Given the description of an element on the screen output the (x, y) to click on. 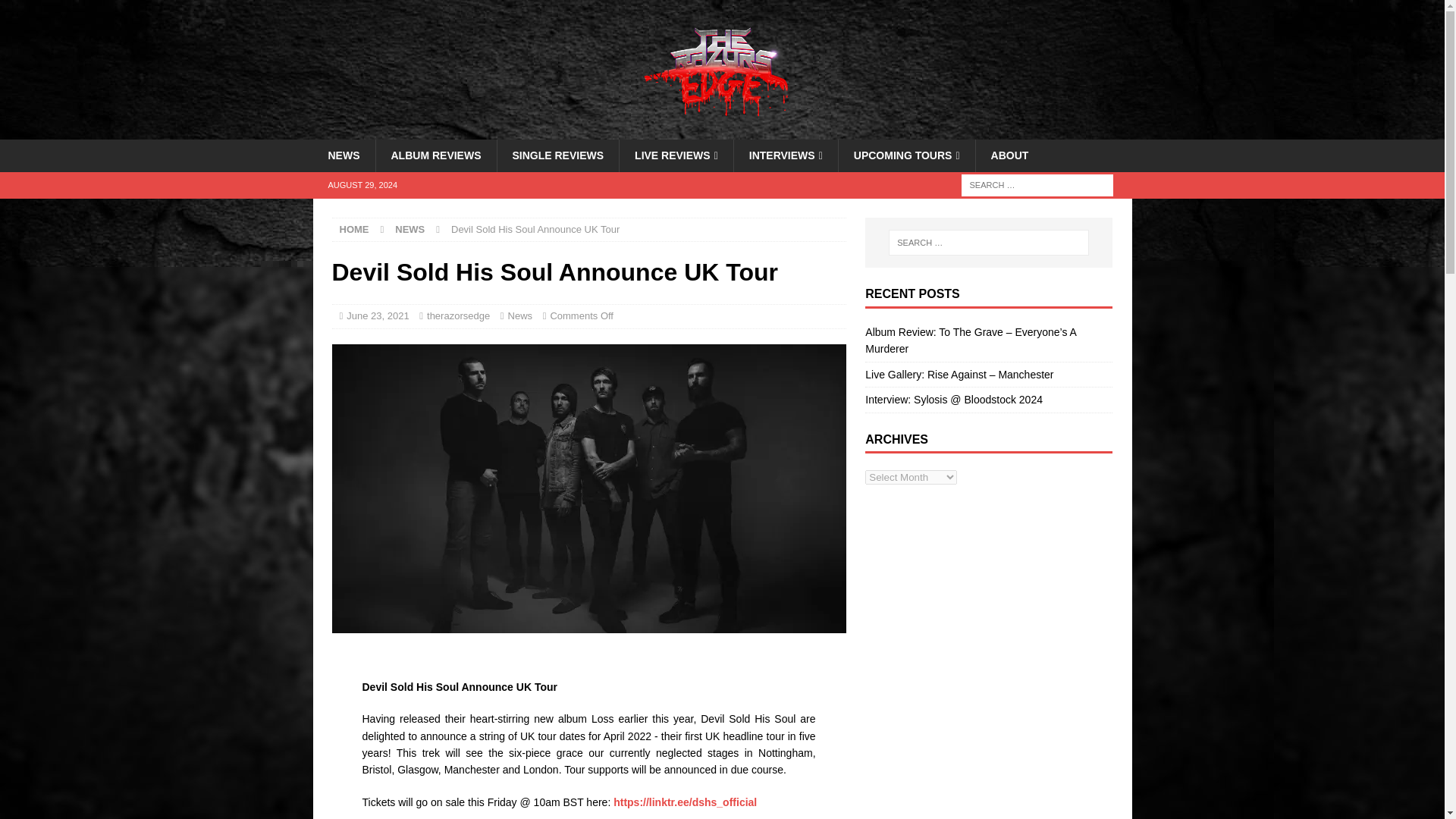
therazorsedge (457, 315)
INTERVIEWS (785, 155)
NEWS (409, 229)
ABOUT (1009, 155)
NEWS (343, 155)
News (520, 315)
SINGLE REVIEWS (557, 155)
ALBUM REVIEWS (435, 155)
HOME (354, 229)
